Given the description of an element on the screen output the (x, y) to click on. 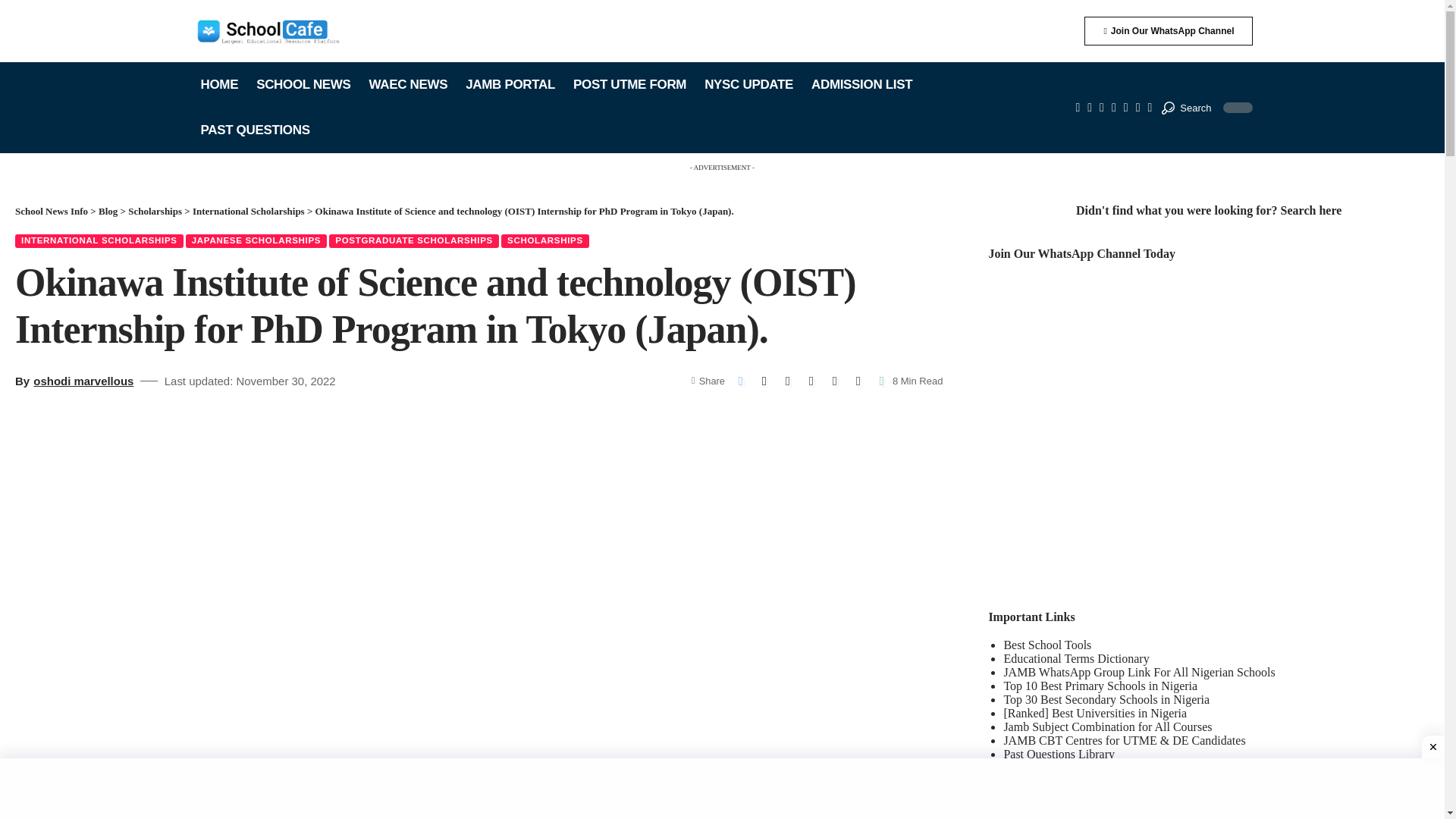
Search (1186, 107)
NYSC UPDATE (748, 84)
Go to School News Info. (50, 211)
WAEC NEWS (408, 84)
SCHOOL NEWS (303, 84)
ADMISSION LIST (861, 84)
Go to Blog. (108, 211)
POST UTME FORM (629, 84)
Go to the Scholarships Category archives. (155, 211)
Join Our WhatsApp Channel (1168, 30)
